Given the description of an element on the screen output the (x, y) to click on. 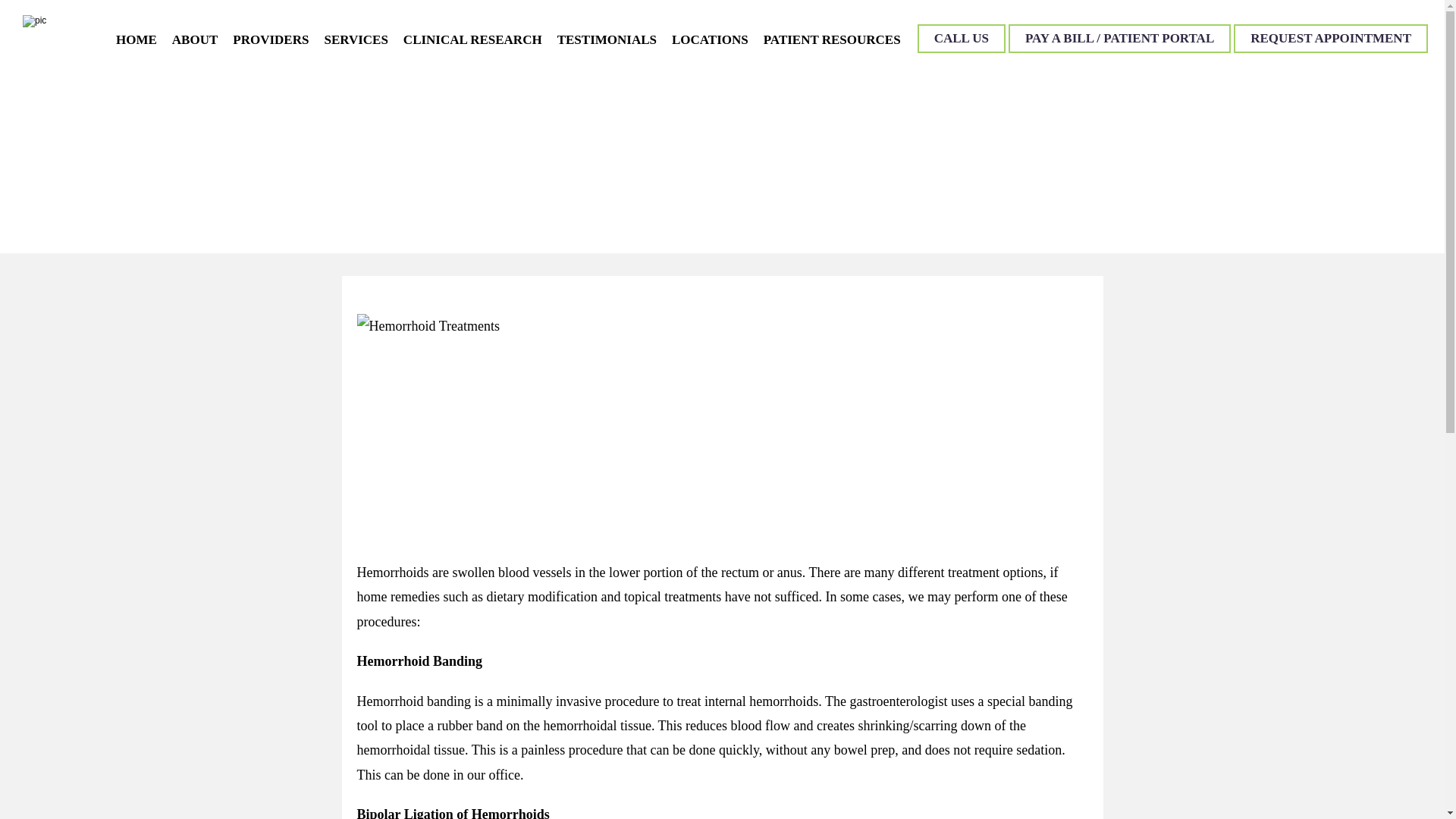
ABOUT (193, 39)
PROVIDERS (270, 39)
HOME (136, 39)
SERVICES (355, 39)
